Given the description of an element on the screen output the (x, y) to click on. 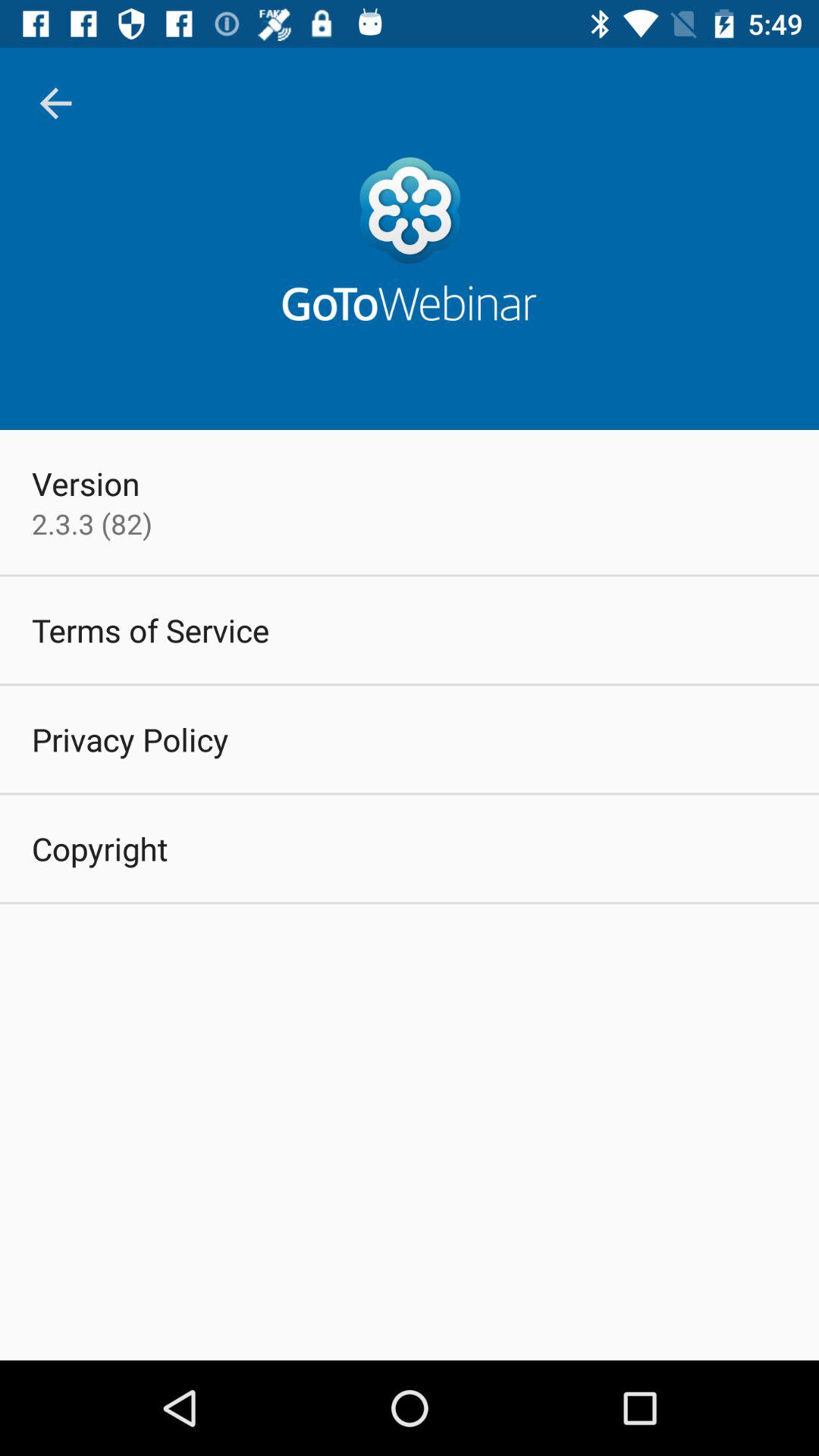
press the icon above the copyright item (129, 738)
